Given the description of an element on the screen output the (x, y) to click on. 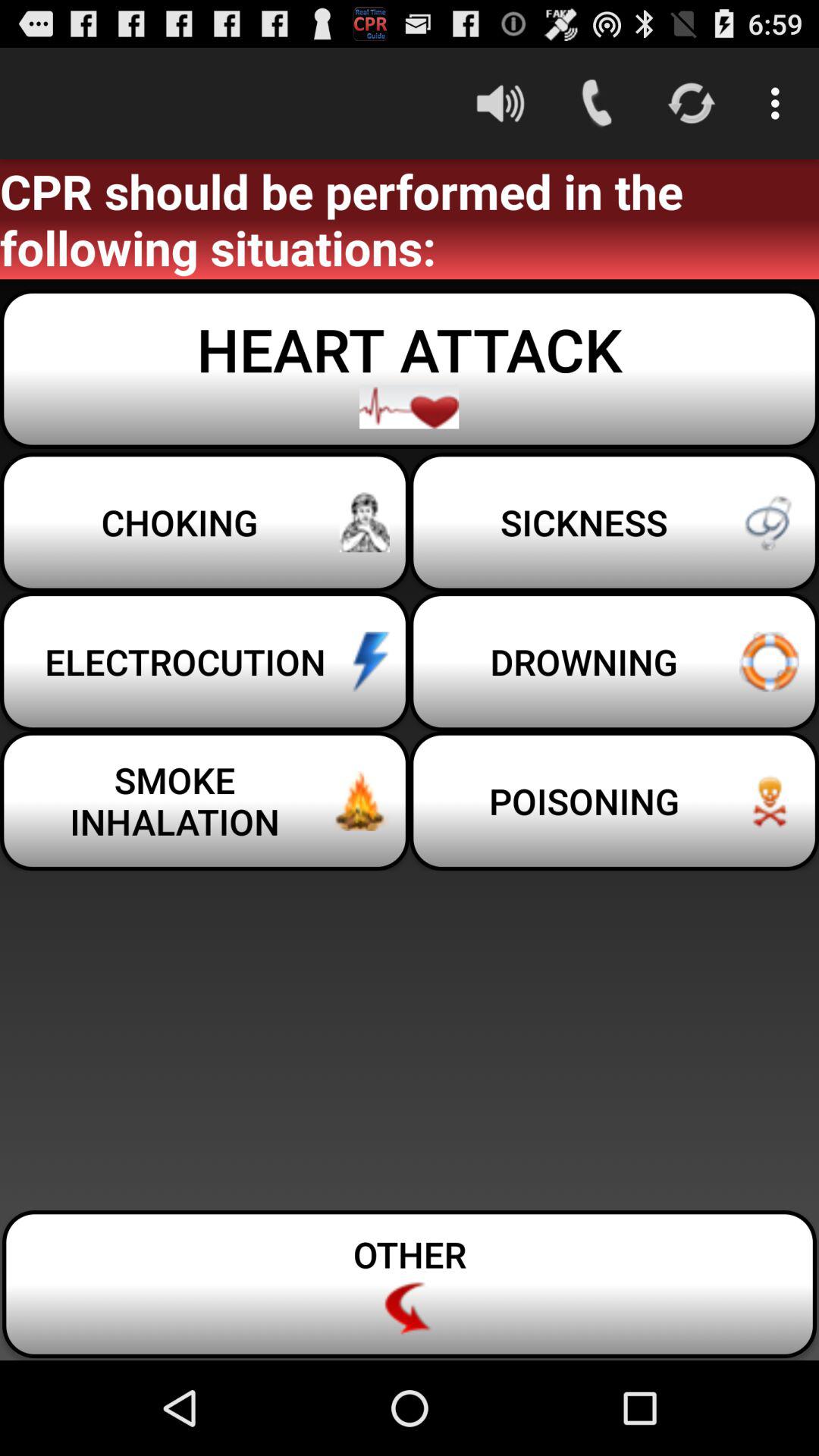
choose the app above the cpr should be app (779, 103)
